Given the description of an element on the screen output the (x, y) to click on. 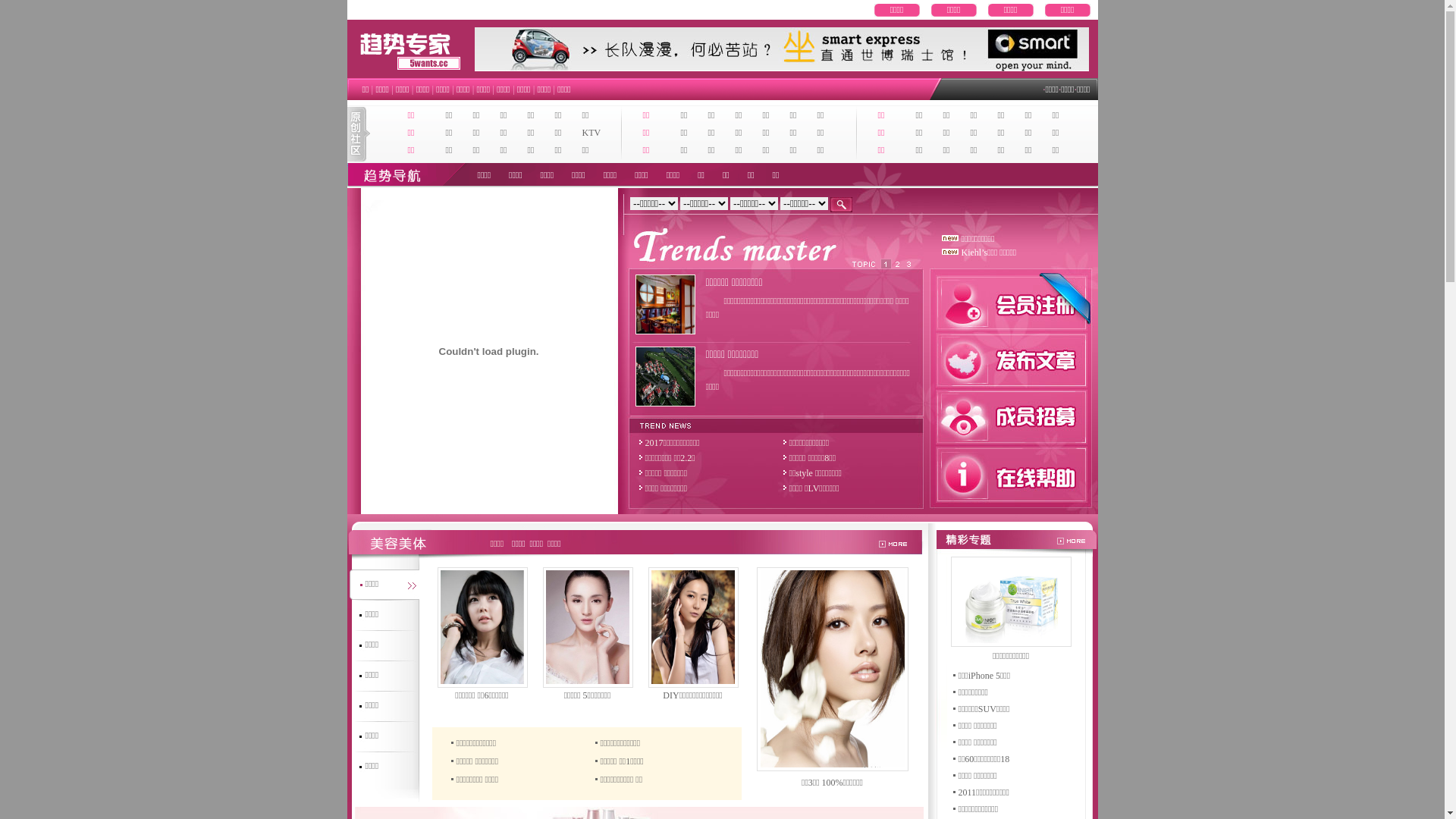
KTV Element type: text (591, 132)
